Given the description of an element on the screen output the (x, y) to click on. 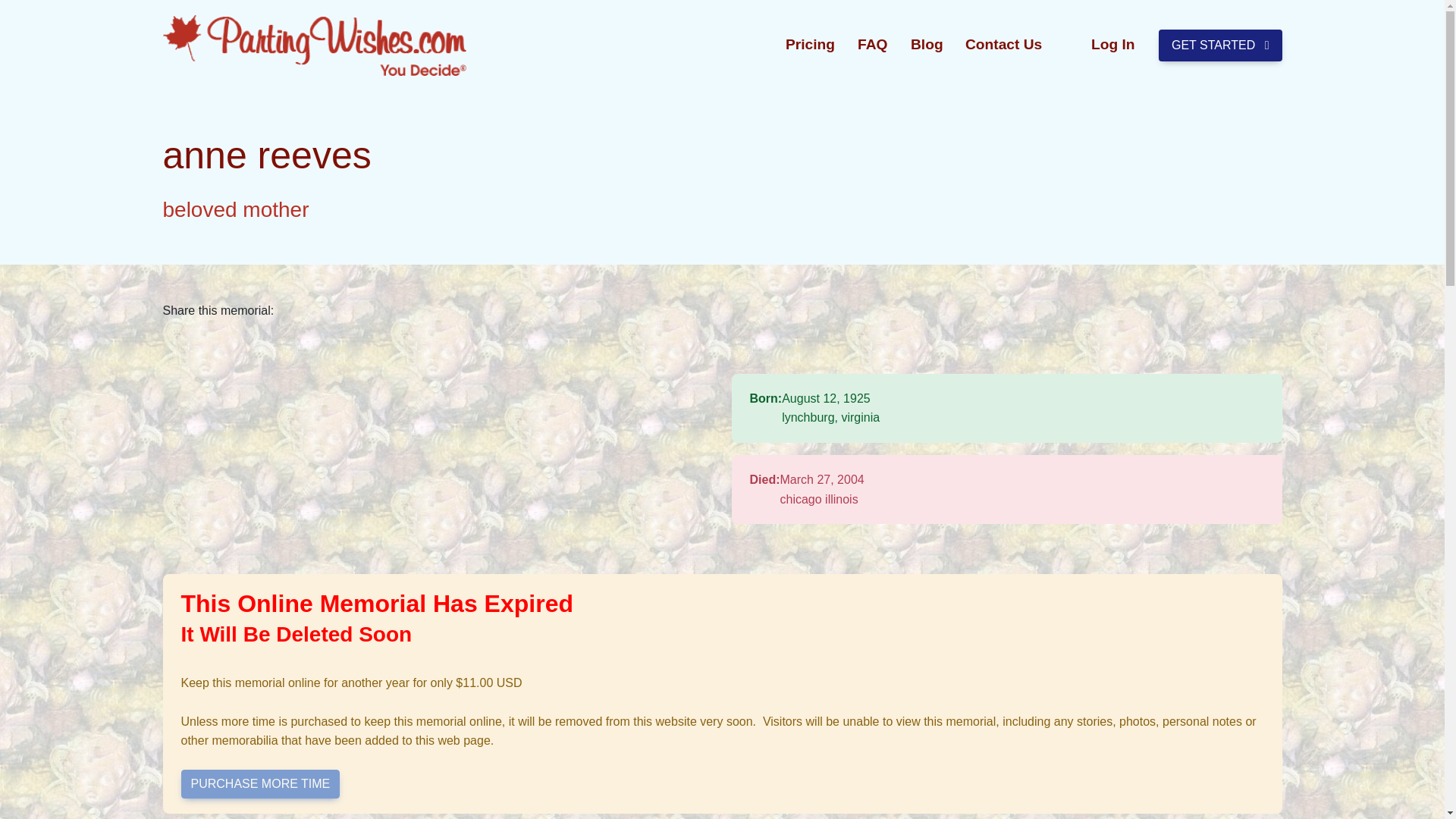
Contact Us (1003, 44)
Pricing (810, 44)
GET STARTED (1220, 45)
Start for free (1220, 45)
PartingWishes.com Home Page (313, 45)
Purchase more time (259, 783)
Member Login (1112, 44)
Prices (810, 44)
PartingWishes.com Home Page (314, 45)
Contact Us (1003, 44)
